Given the description of an element on the screen output the (x, y) to click on. 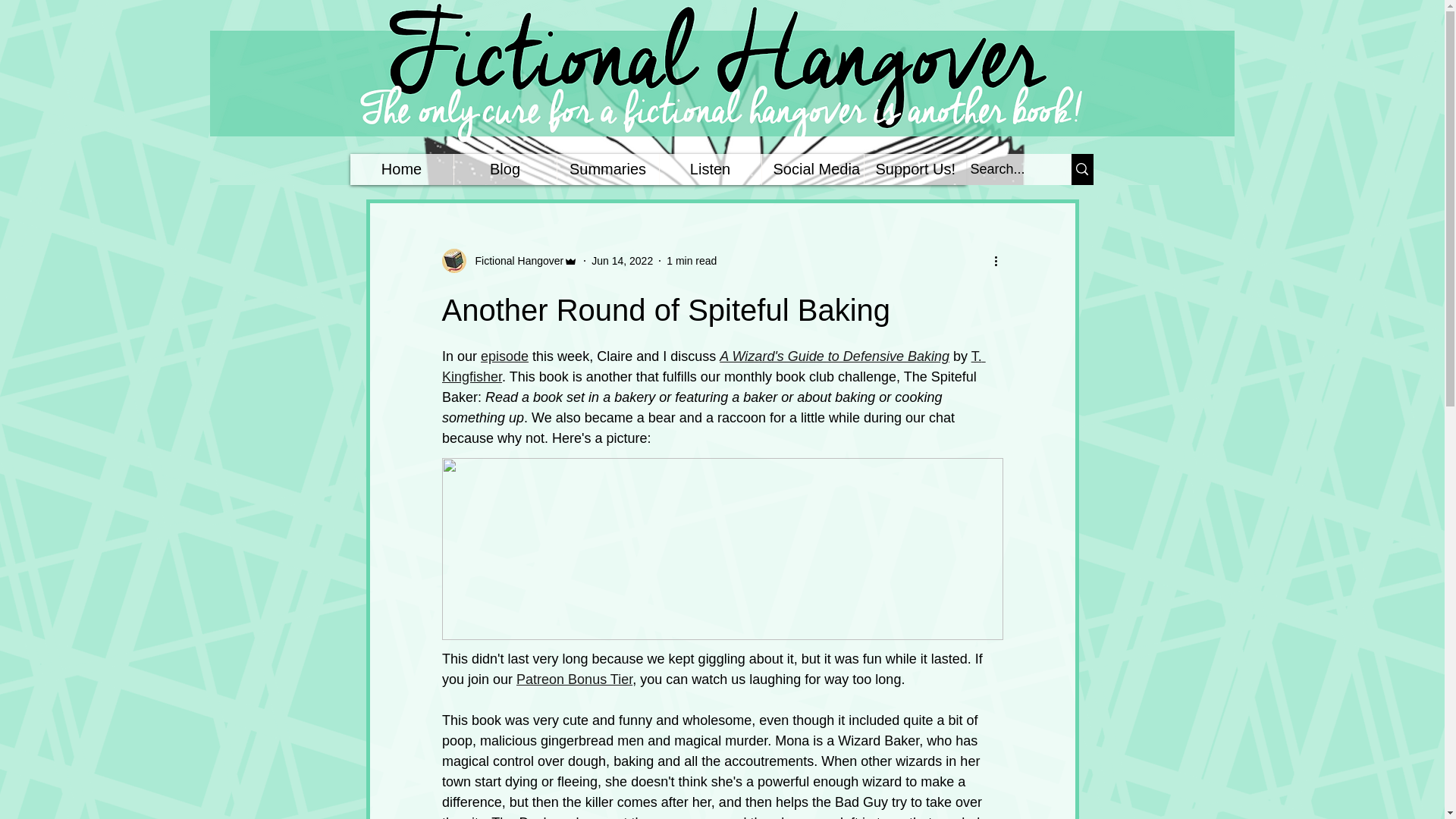
Blog (504, 169)
Fictional Hangover (509, 260)
episode (504, 355)
A Wizard's Guide to Defensive Baking (834, 355)
Jun 14, 2022 (621, 260)
Home (401, 169)
Fictional Hangover (514, 261)
T. Kingfisher (713, 366)
1 min read (691, 260)
Patreon Bonus Tier (573, 679)
Summaries (607, 169)
